Given the description of an element on the screen output the (x, y) to click on. 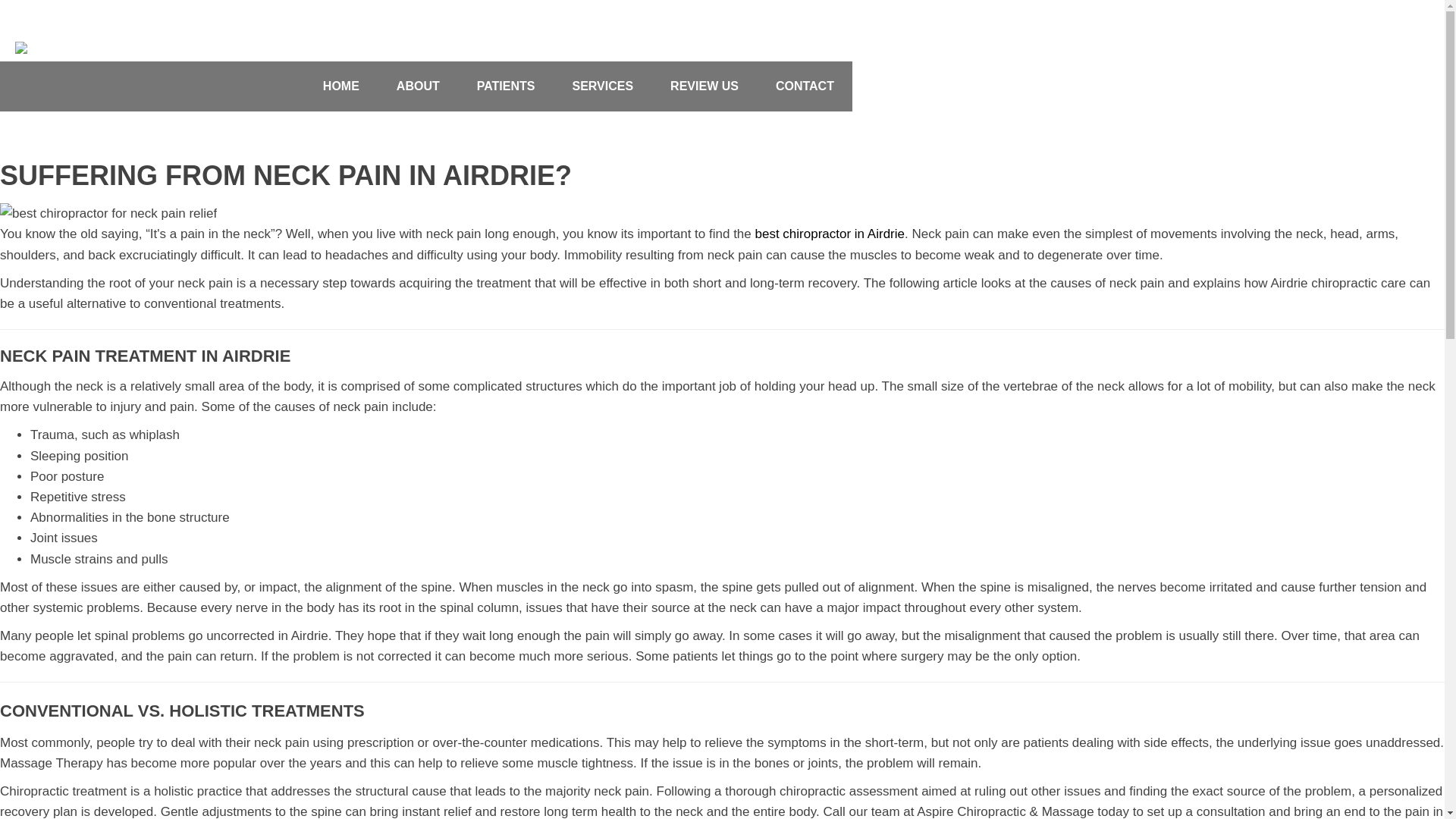
ABOUT Element type: text (418, 86)
HOME Element type: text (340, 86)
best chiropractor in Airdrie Element type: text (829, 233)
CONTACT Element type: text (804, 86)
neckpain2.jpg Element type: hover (108, 213)
Chiropractic Airdrie AB Aspire Chiropractic & Massage Element type: hover (122, 47)
(403) 980-4800 Element type: text (520, 12)
SERVICES Element type: text (602, 86)
PATIENTS Element type: text (505, 86)
REVIEW US Element type: text (704, 86)
